Given the description of an element on the screen output the (x, y) to click on. 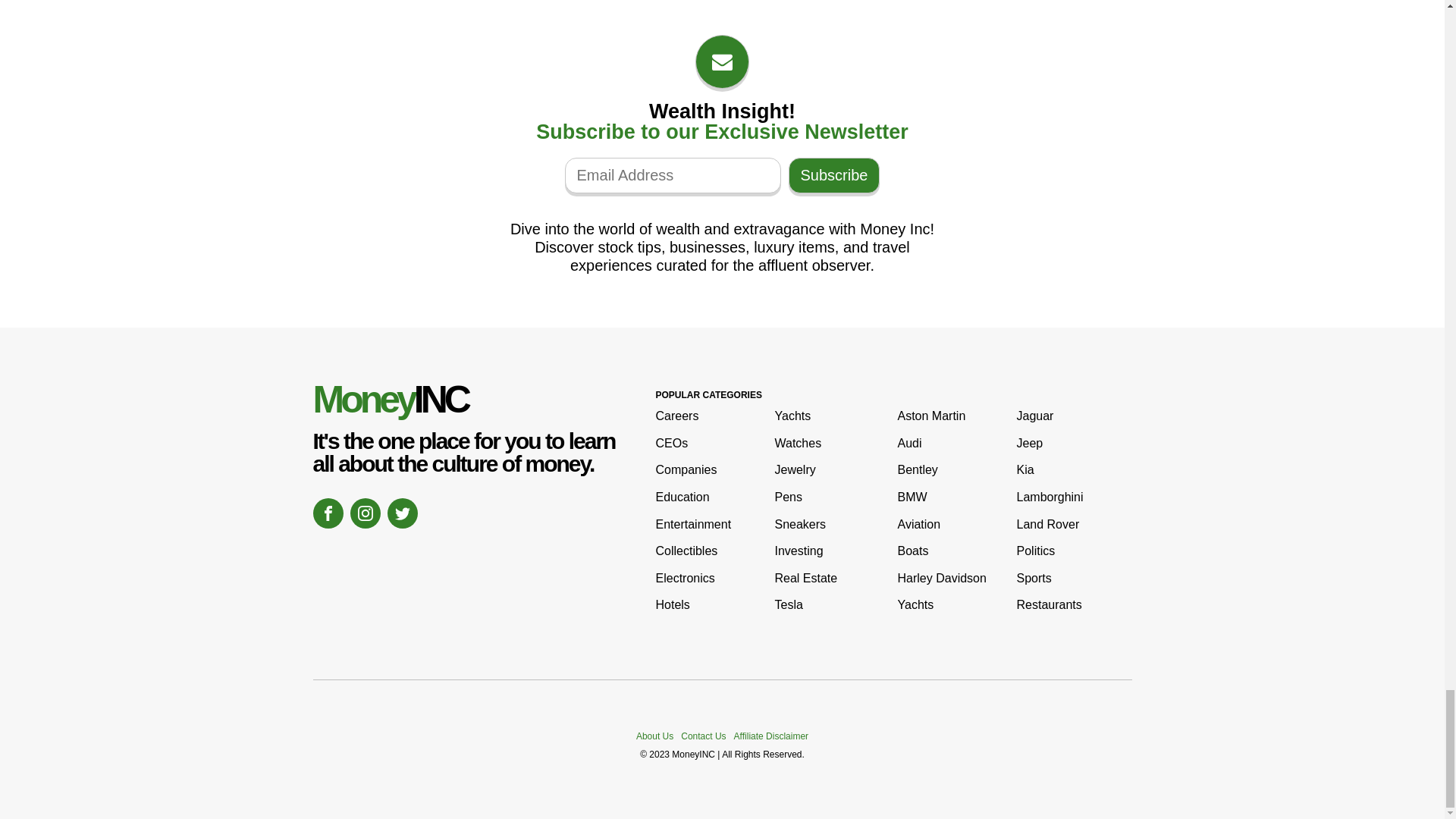
Subscribe (834, 175)
